Given the description of an element on the screen output the (x, y) to click on. 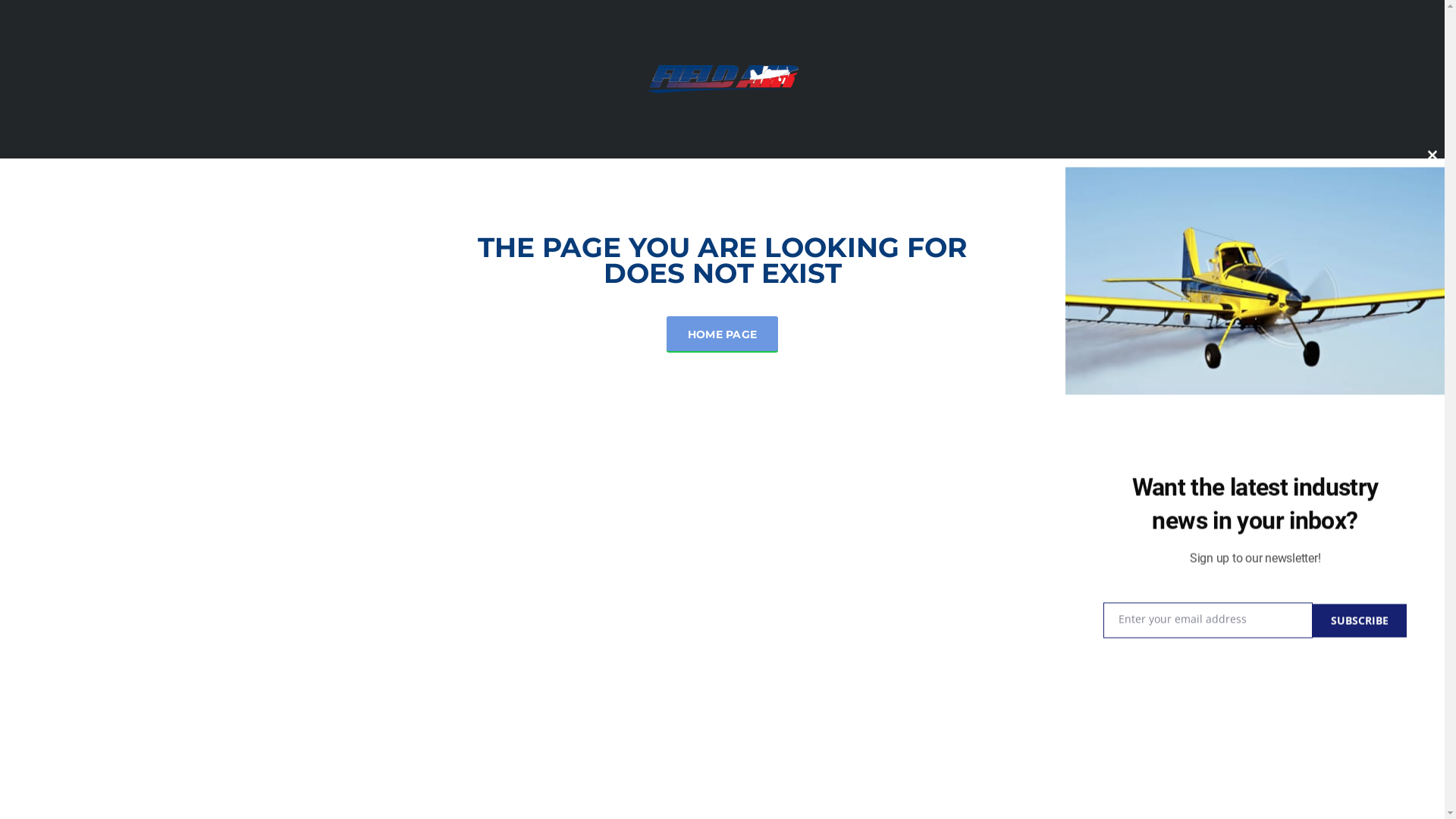
CLOSE THIS MODULE Element type: text (1432, 154)
Home Element type: hover (721, 77)
SUBSCRIBE Element type: text (1359, 620)
HOME PAGE Element type: text (722, 333)
